Given the description of an element on the screen output the (x, y) to click on. 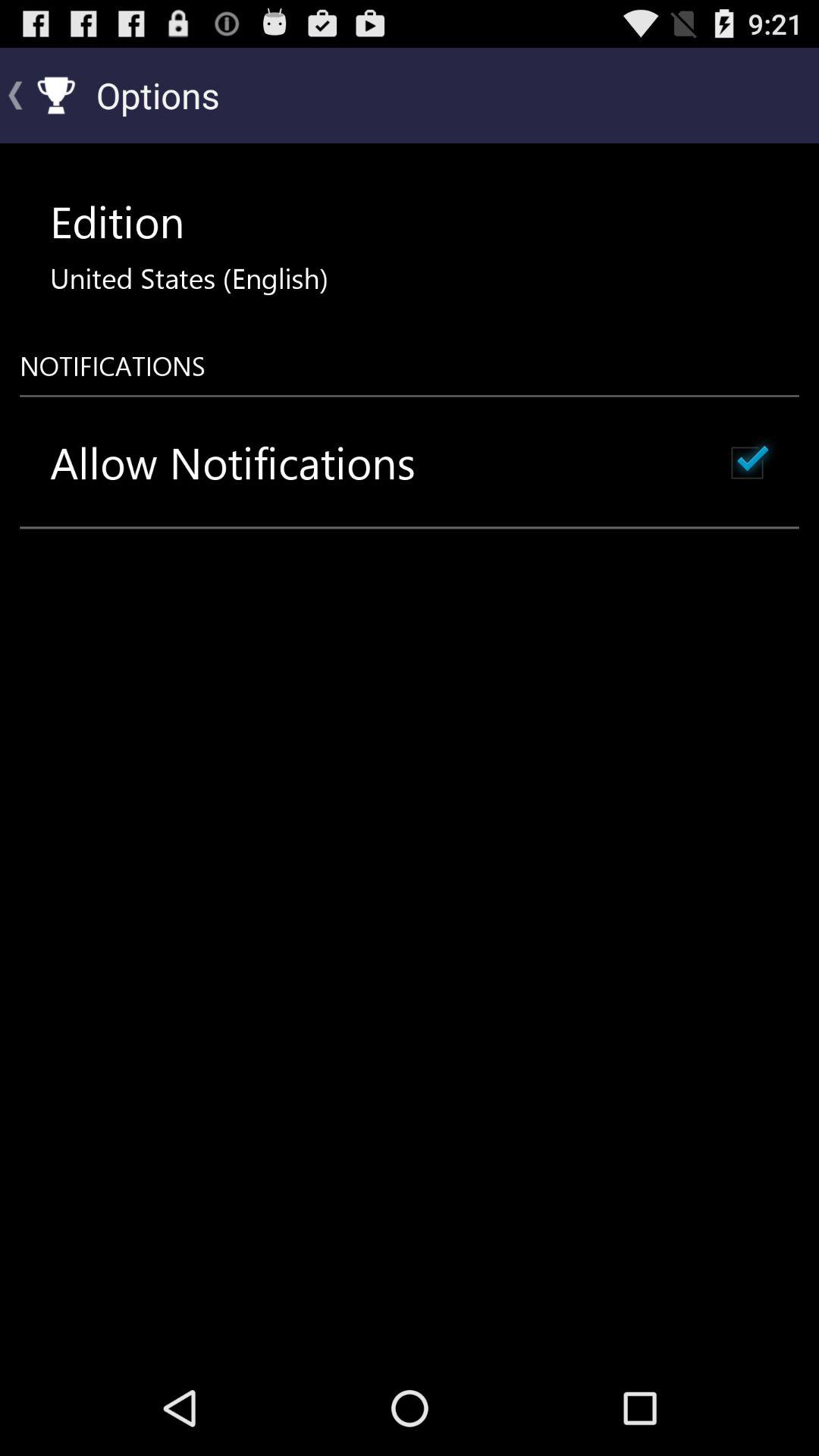
swipe until the united states (english) (189, 278)
